Given the description of an element on the screen output the (x, y) to click on. 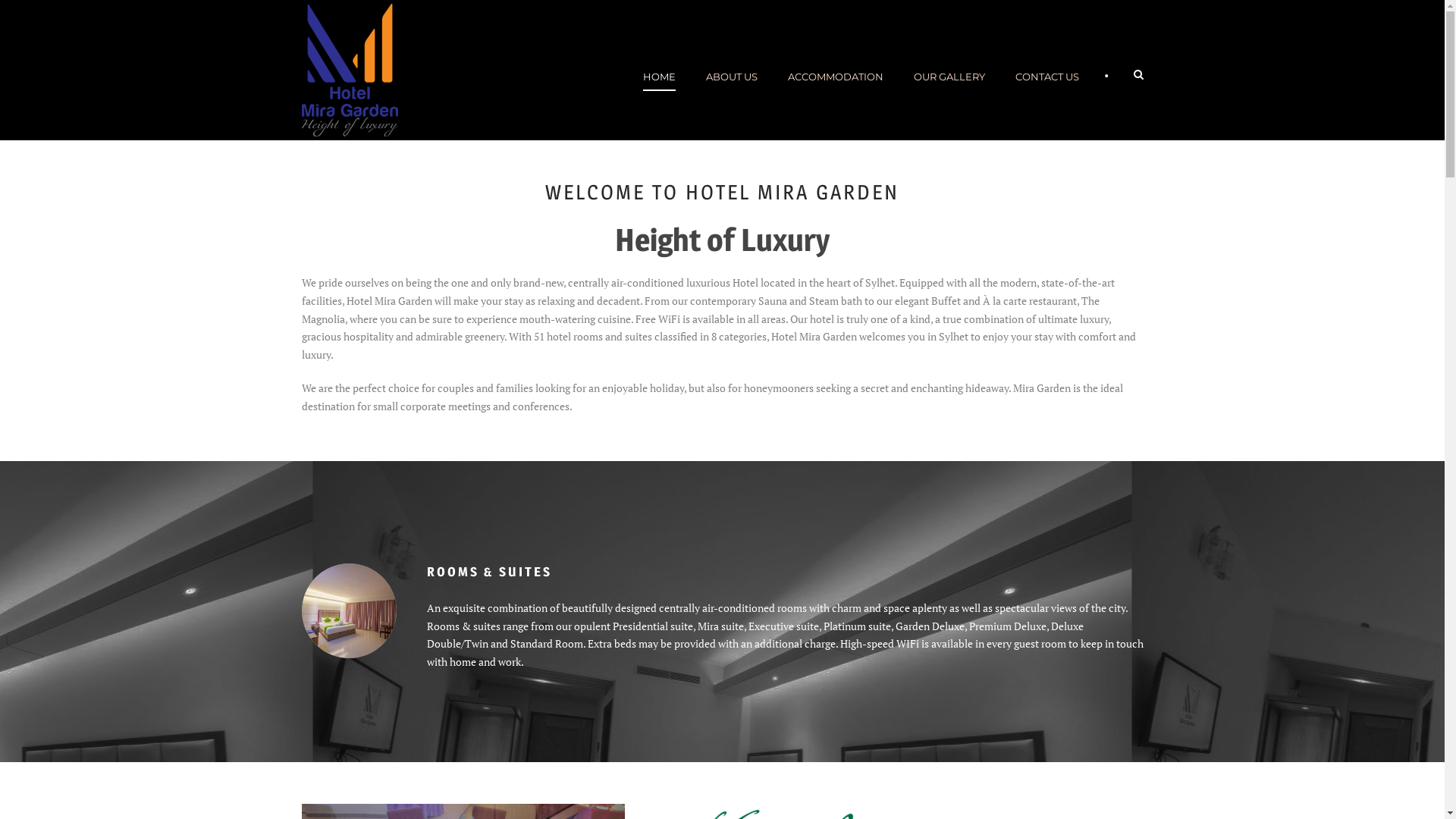
ABOUT US Element type: text (730, 93)
OUR GALLERY Element type: text (948, 93)
CONTACT US Element type: text (1046, 93)
HOME Element type: text (666, 93)
ACCOMMODATION Element type: text (834, 93)
